Given the description of an element on the screen output the (x, y) to click on. 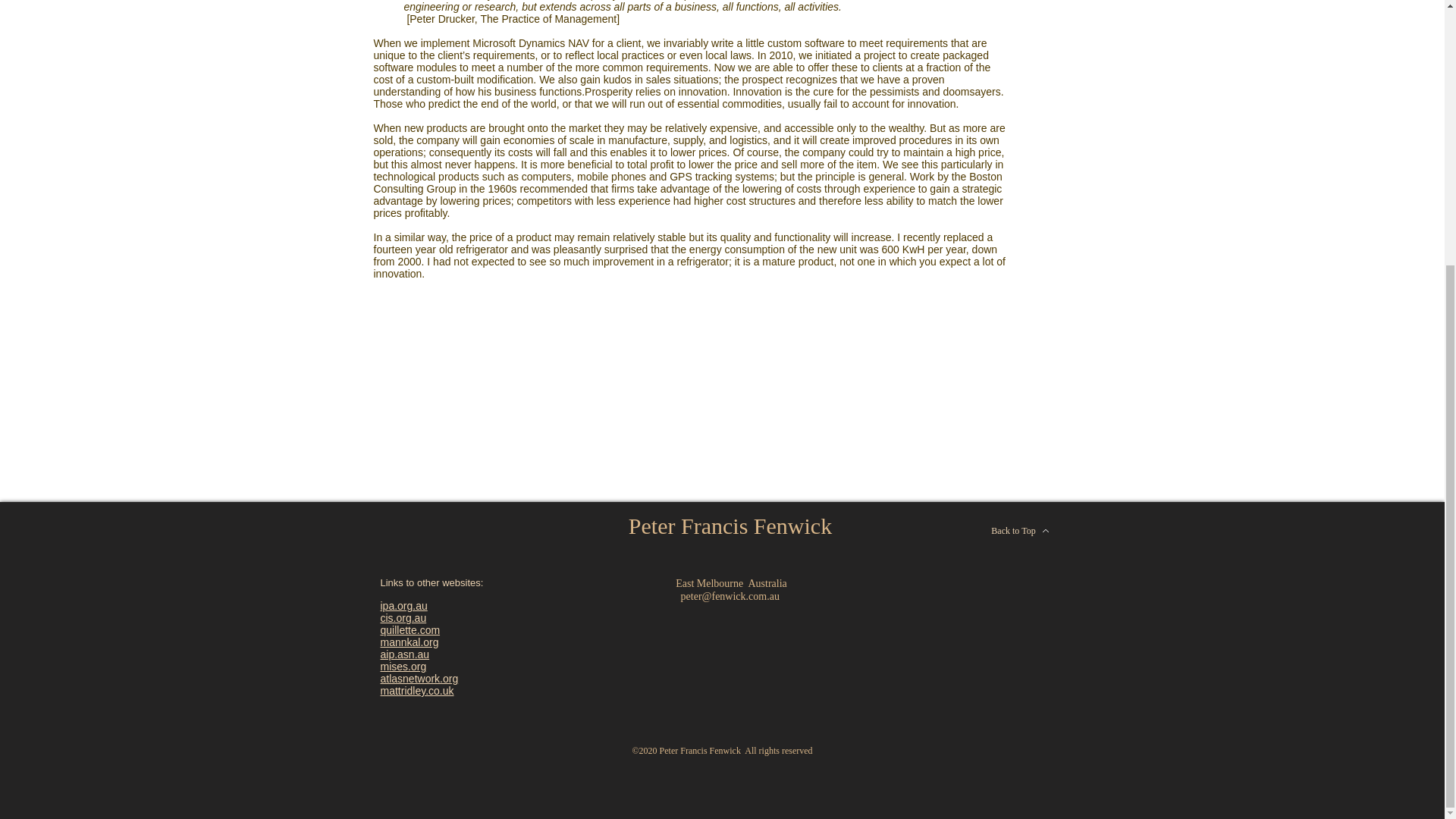
mattridley.co.uk (417, 690)
mannkal.org (409, 642)
Facebook Like (934, 529)
aip.asn.au (404, 654)
mises.org (403, 666)
cis.org.au (403, 617)
atlasnetwork.org (419, 678)
ipa.org.au (404, 605)
Back to Top (1020, 530)
quillette.com (410, 630)
